Given the description of an element on the screen output the (x, y) to click on. 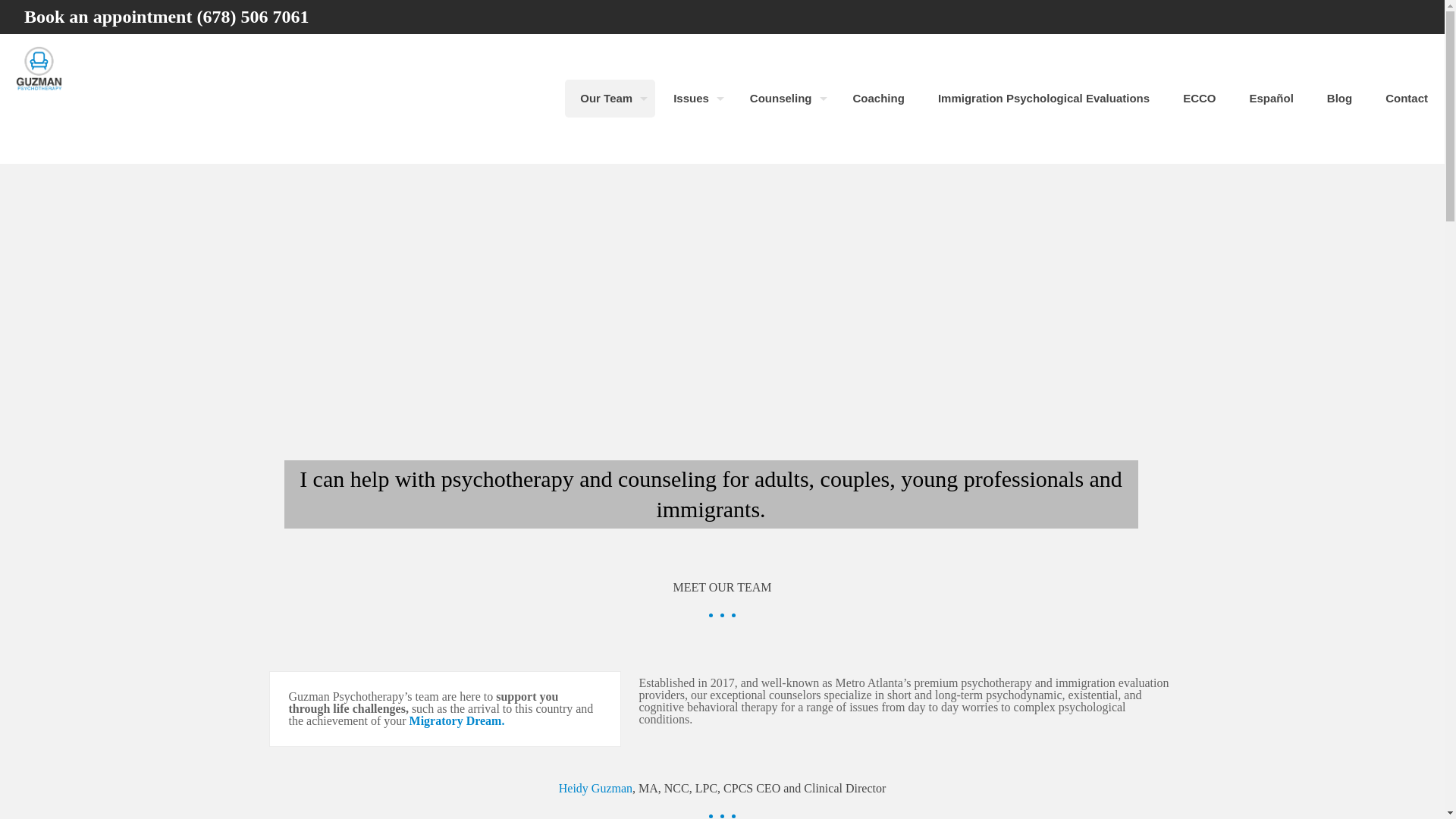
Issues (695, 98)
Immigration Psychological Evaluations (1043, 98)
Our Team (609, 98)
Contact (1406, 98)
Coaching (879, 98)
Counseling (784, 98)
Blog (1339, 98)
ECCO (1198, 98)
